Given the description of an element on the screen output the (x, y) to click on. 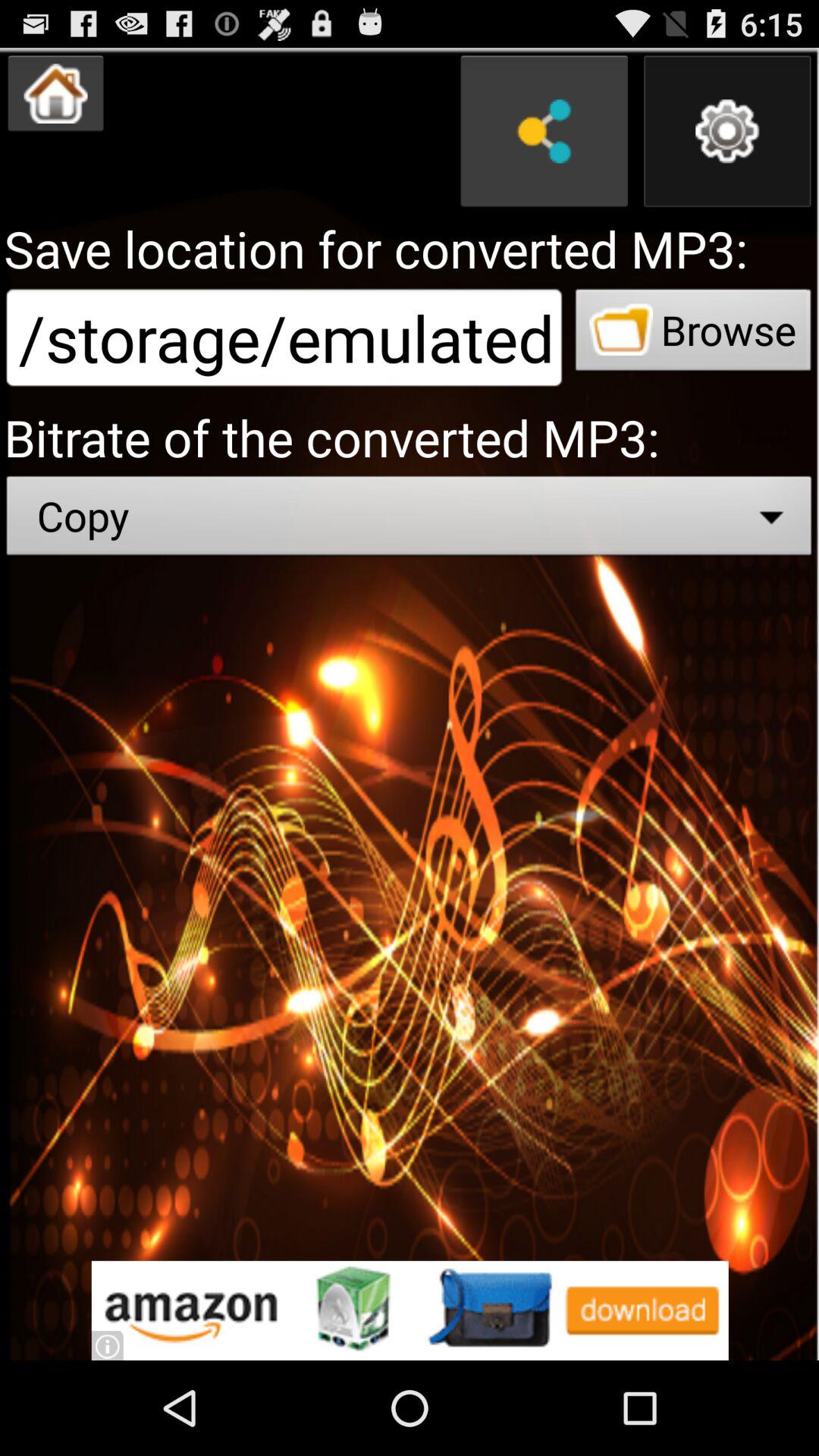
home button (55, 93)
